Given the description of an element on the screen output the (x, y) to click on. 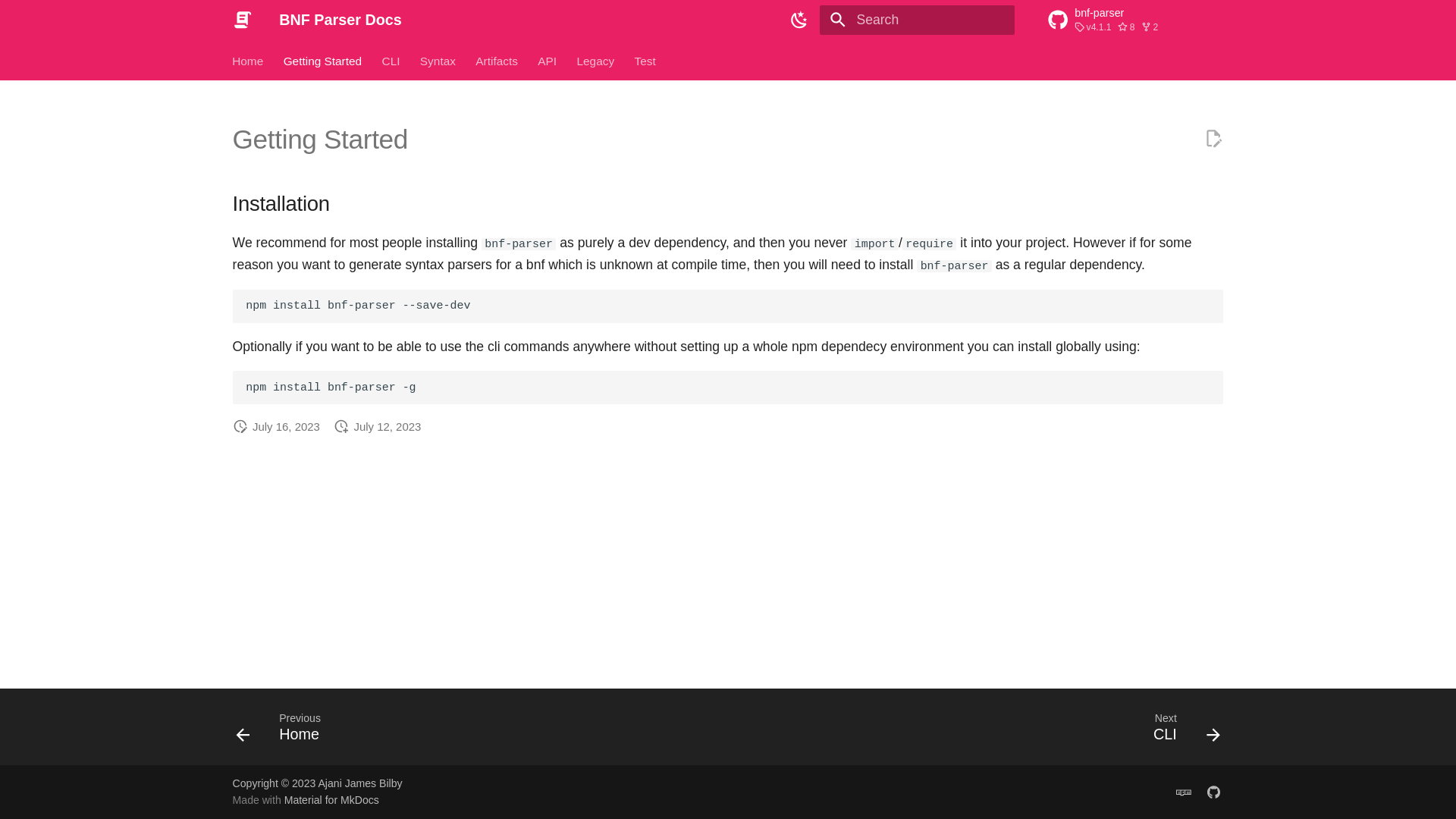
Getting Started (322, 60)
github.com (1213, 791)
Edit this page (1213, 138)
Switch to dark mode (799, 19)
Syntax (437, 60)
API (547, 60)
www.npmjs.com (1183, 791)
Test (283, 731)
Created (645, 60)
